Given the description of an element on the screen output the (x, y) to click on. 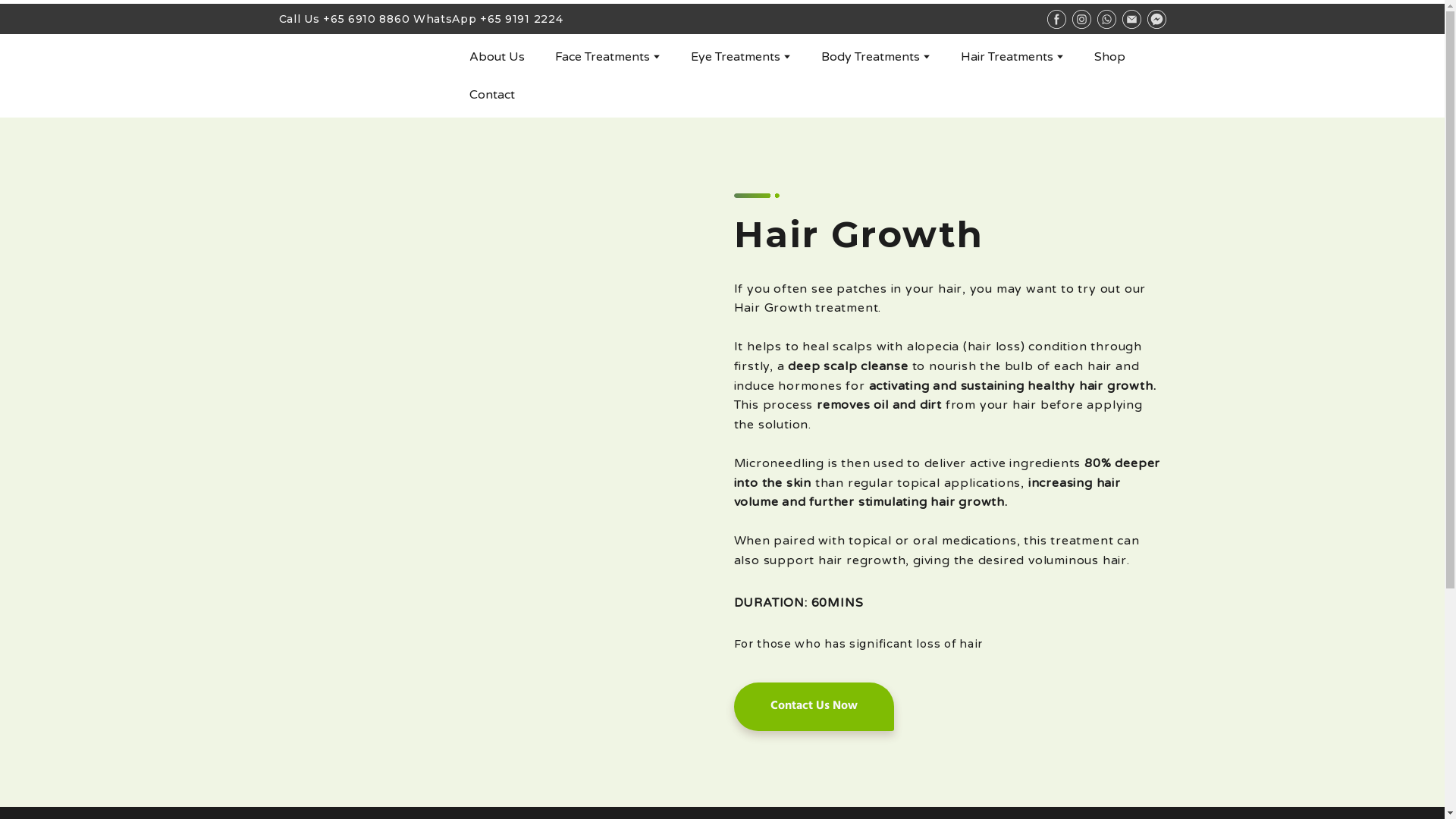
Hair Treatments (1006, 56)
About Us (496, 56)
Face Treatments (601, 56)
Contact (491, 94)
Body Treatments (870, 56)
Eye Treatments (735, 56)
Shop (1109, 56)
